Given the description of an element on the screen output the (x, y) to click on. 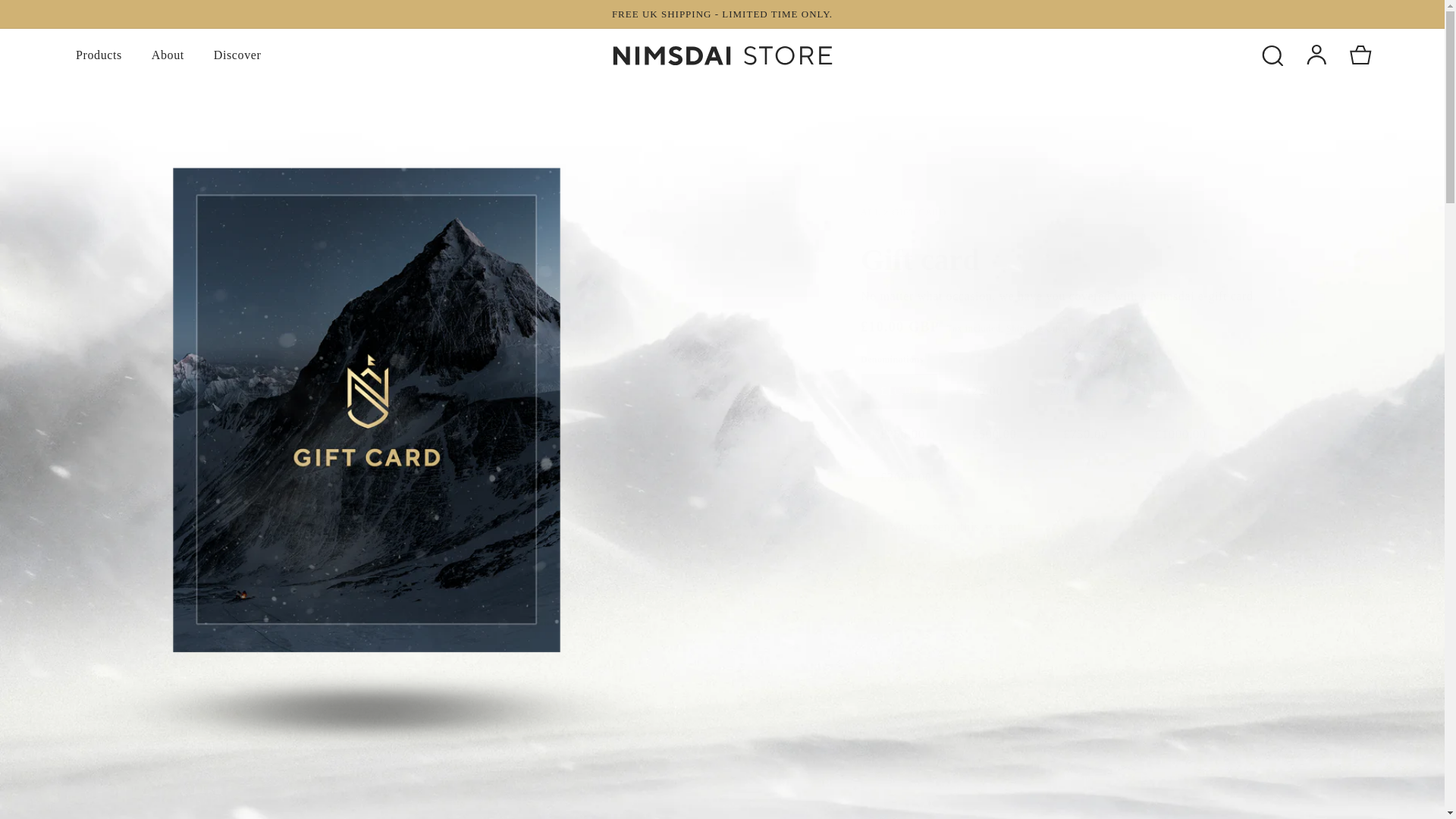
on (866, 526)
Skip to content (45, 17)
